Given the description of an element on the screen output the (x, y) to click on. 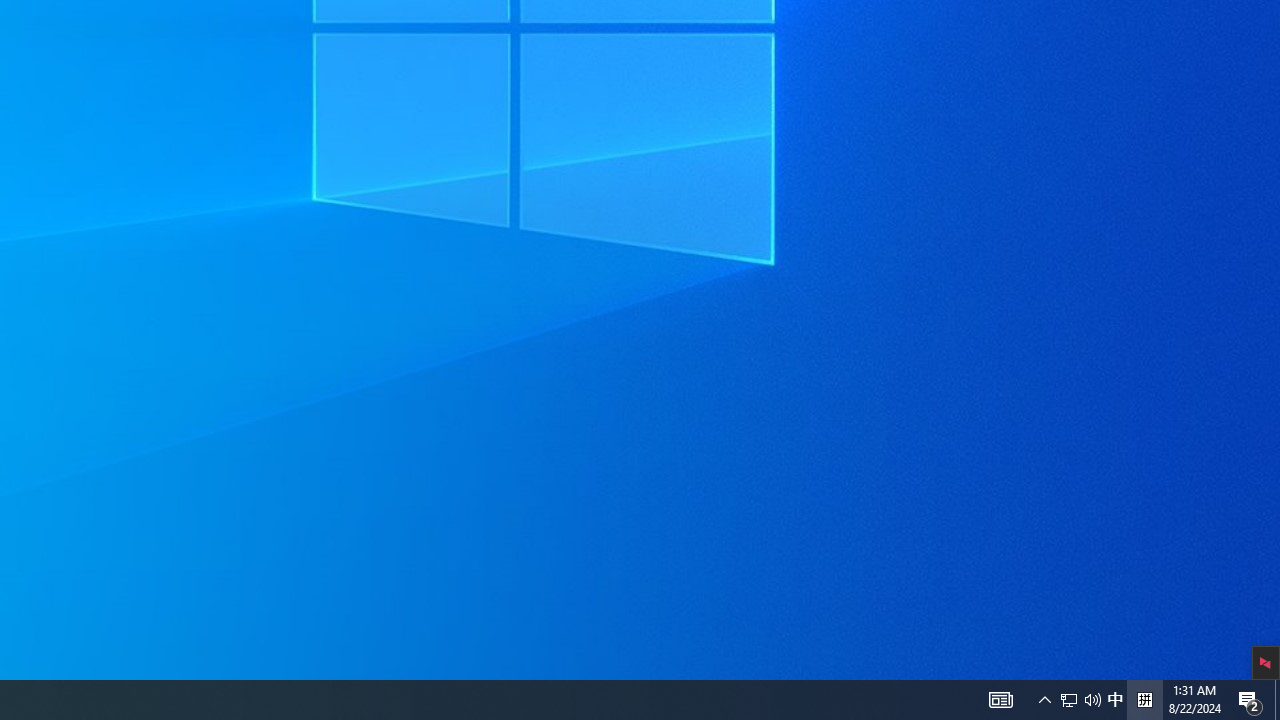
User Promoted Notification Area (1080, 699)
Q2790: 100% (1092, 699)
Tray Input Indicator - Chinese (Simplified, China) (1144, 699)
Notification Chevron (1044, 699)
Action Center, 2 new notifications (1250, 699)
AutomationID: 4105 (1115, 699)
Show desktop (1069, 699)
